Given the description of an element on the screen output the (x, y) to click on. 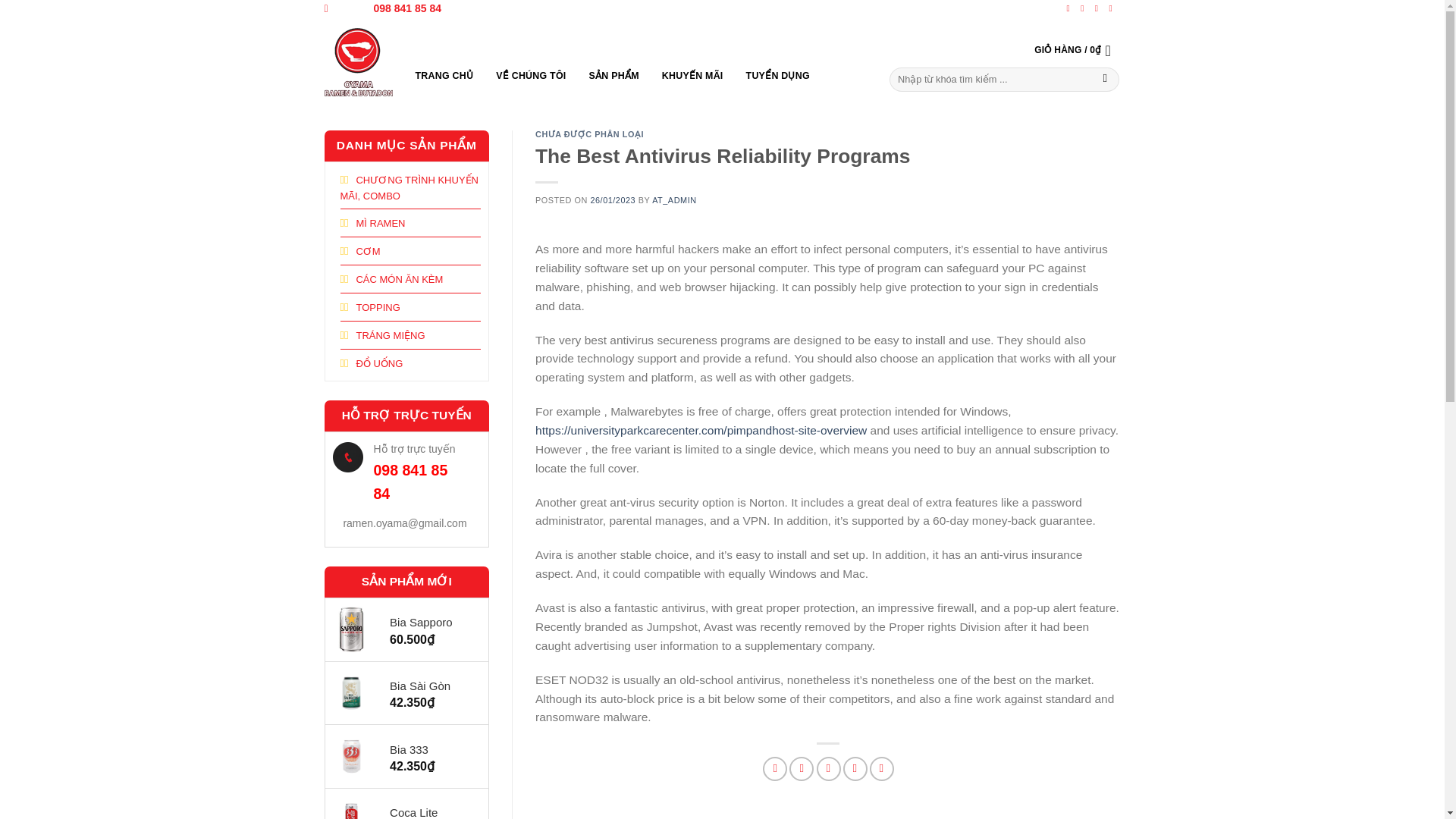
Email to a Friend (828, 768)
TOPPING (368, 307)
Coca Lite (430, 811)
Follow on Facebook (1071, 8)
Pin on Pinterest (855, 768)
Bia Sapporo (430, 622)
Share on Twitter (801, 768)
Follow on Twitter (1098, 8)
Follow on Instagram (1084, 8)
Bia 333 (430, 750)
Share on LinkedIn (881, 768)
Send us an email (1113, 8)
Share on Facebook (774, 768)
